Given the description of an element on the screen output the (x, y) to click on. 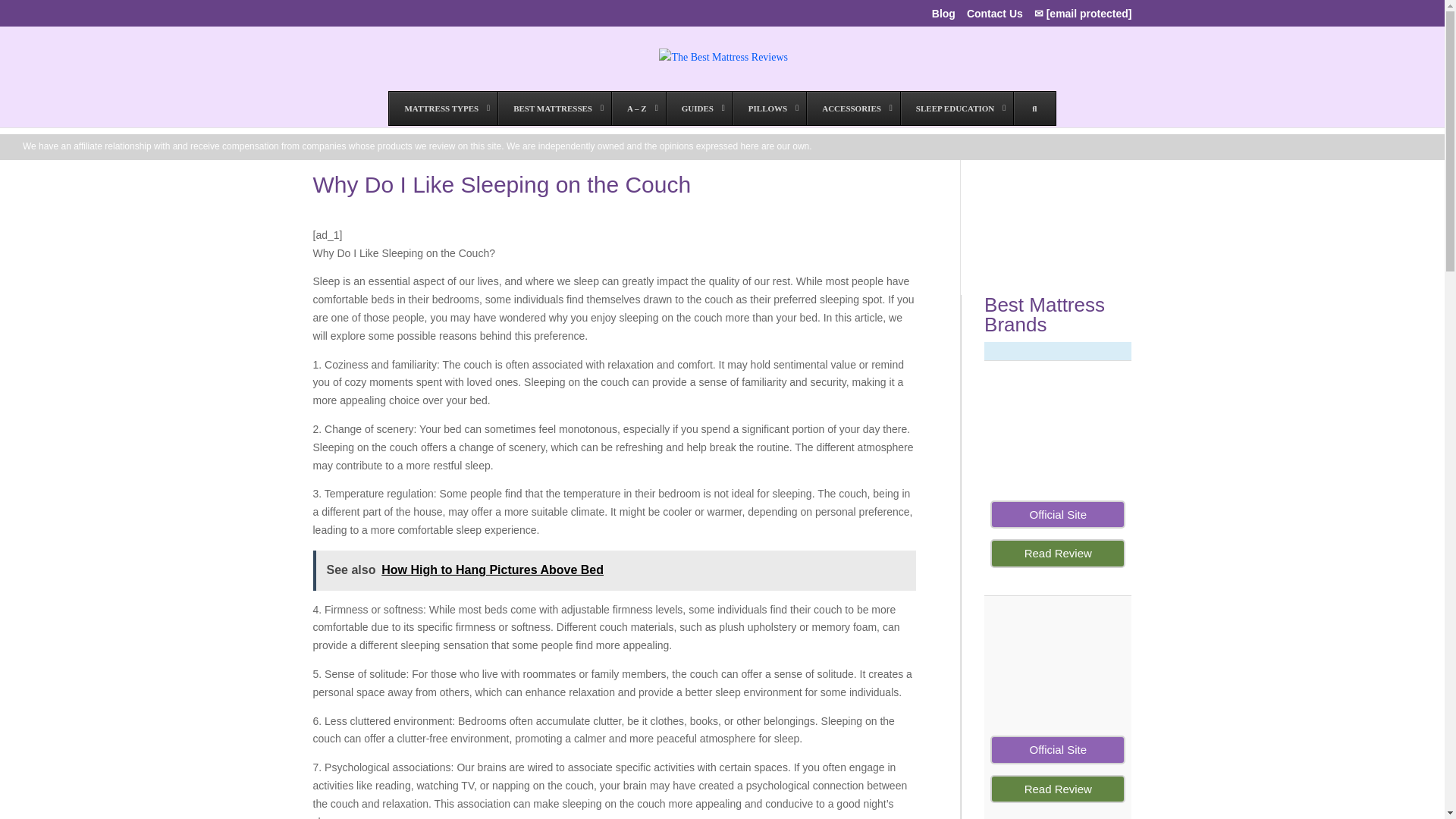
MATTRESS TYPES (442, 108)
Blog (943, 16)
Contact Us (994, 16)
